Given the description of an element on the screen output the (x, y) to click on. 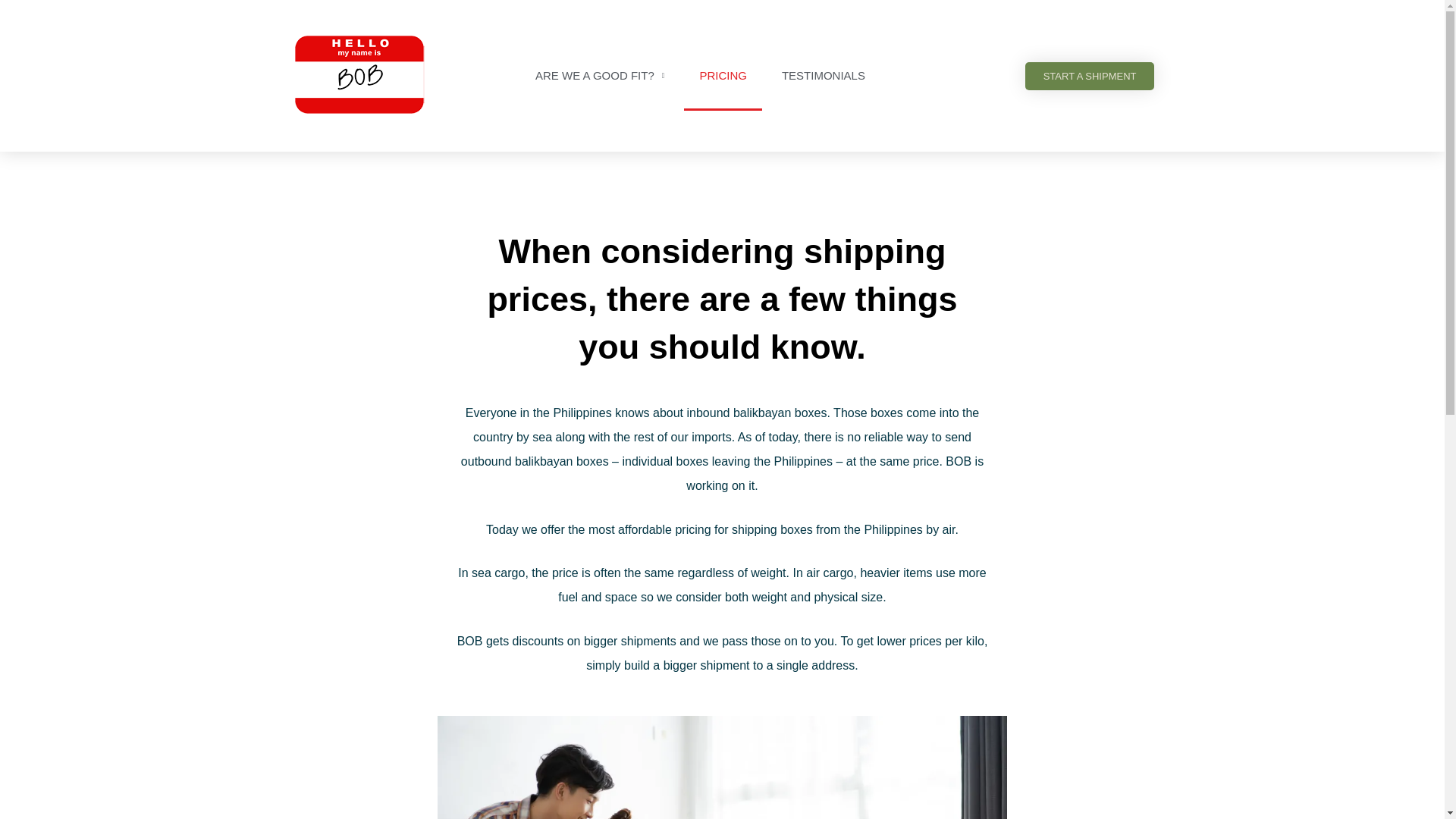
TESTIMONIALS (823, 75)
ARE WE A GOOD FIT? (599, 75)
START A SHIPMENT (1089, 76)
PRICING (722, 75)
